Given the description of an element on the screen output the (x, y) to click on. 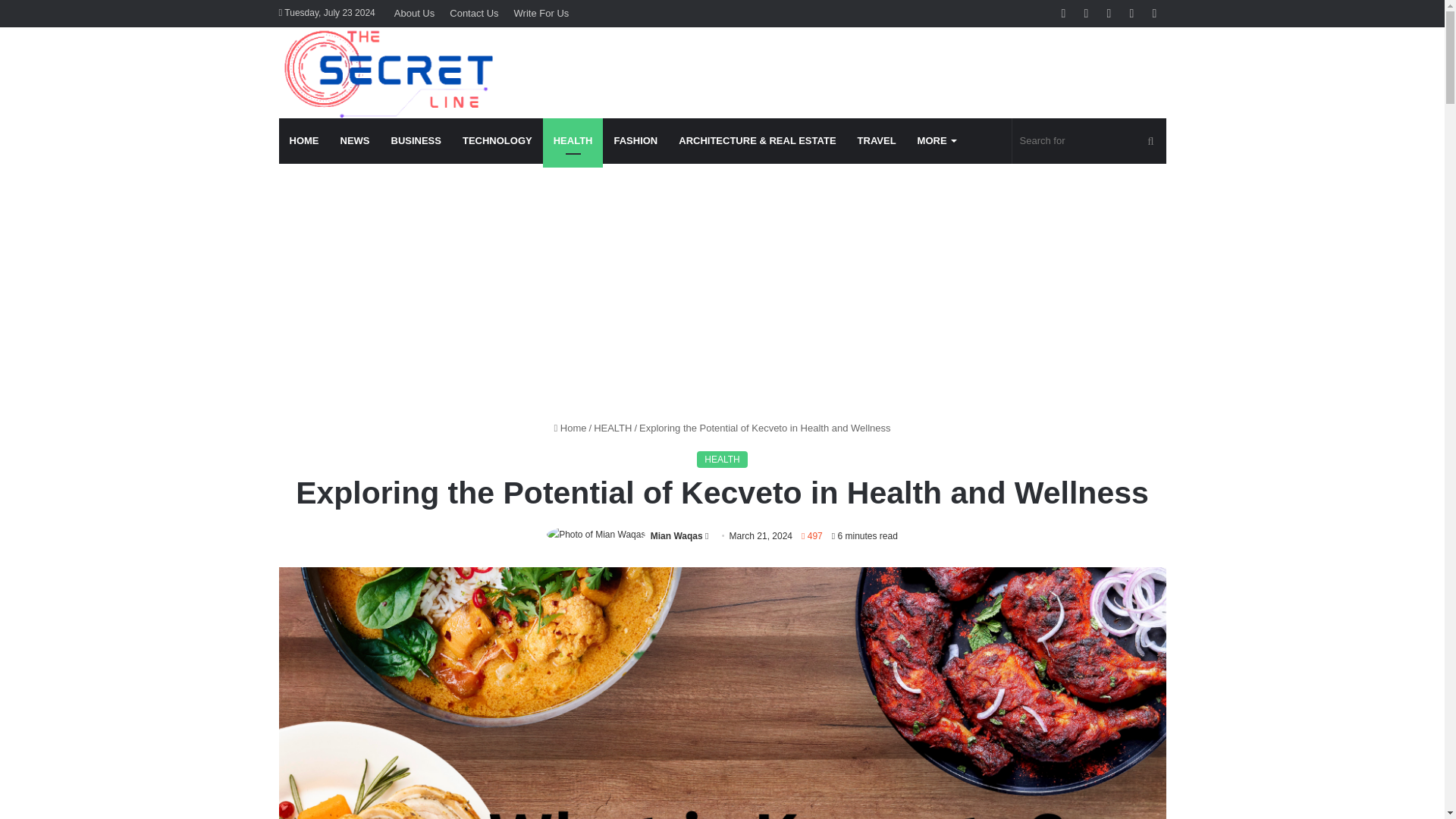
Mian Waqas (676, 535)
HOME (304, 140)
MORE (936, 140)
HEALTH (612, 428)
TECHNOLOGY (497, 140)
Contact Us (473, 13)
About Us (414, 13)
FASHION (635, 140)
Home (569, 428)
Search for (1088, 140)
SECRET LINE (390, 72)
HEALTH (721, 459)
NEWS (354, 140)
BUSINESS (415, 140)
TRAVEL (877, 140)
